Given the description of an element on the screen output the (x, y) to click on. 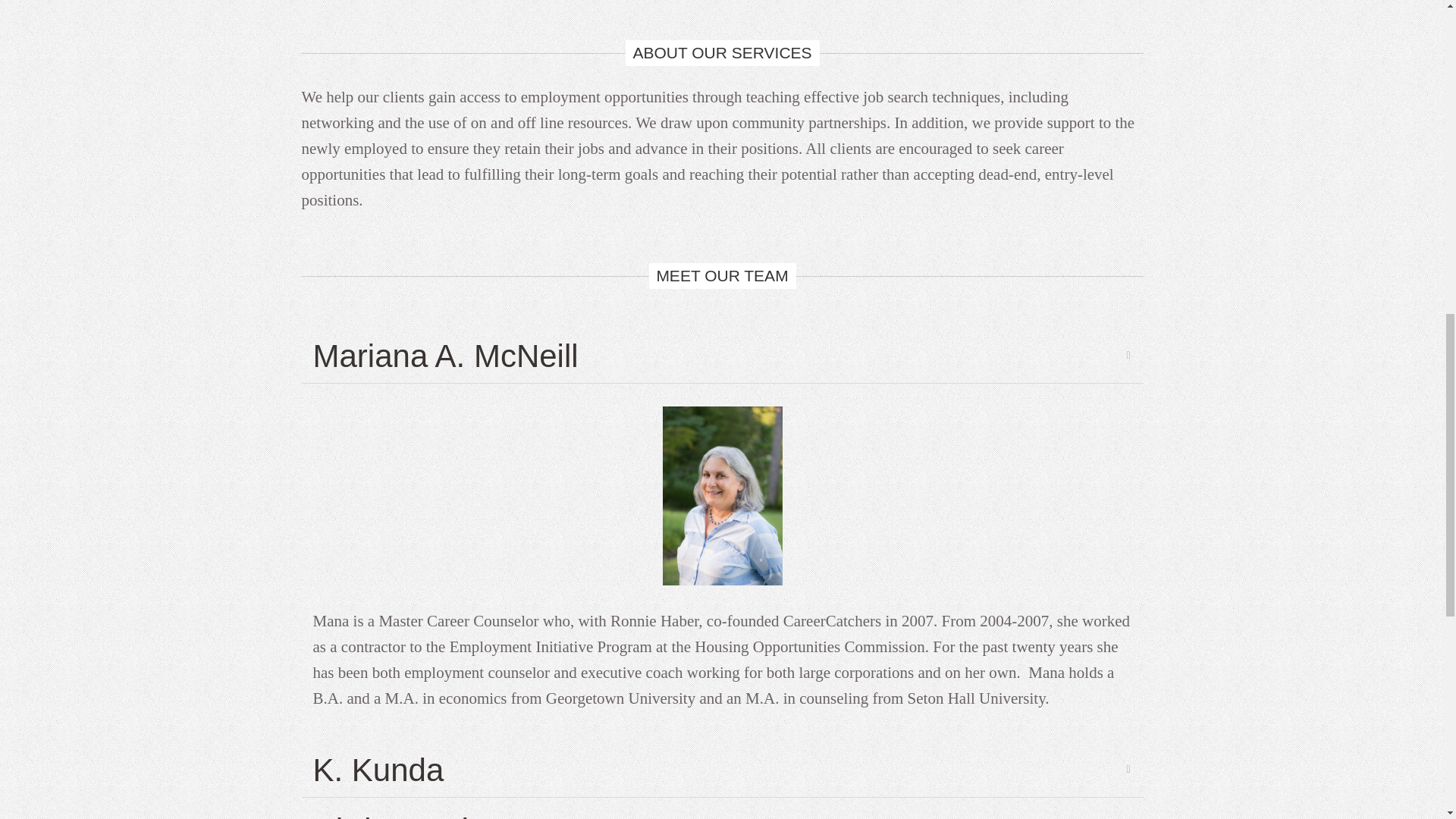
Mariana A. McNeill (721, 356)
K. Kunda (721, 770)
